Given the description of an element on the screen output the (x, y) to click on. 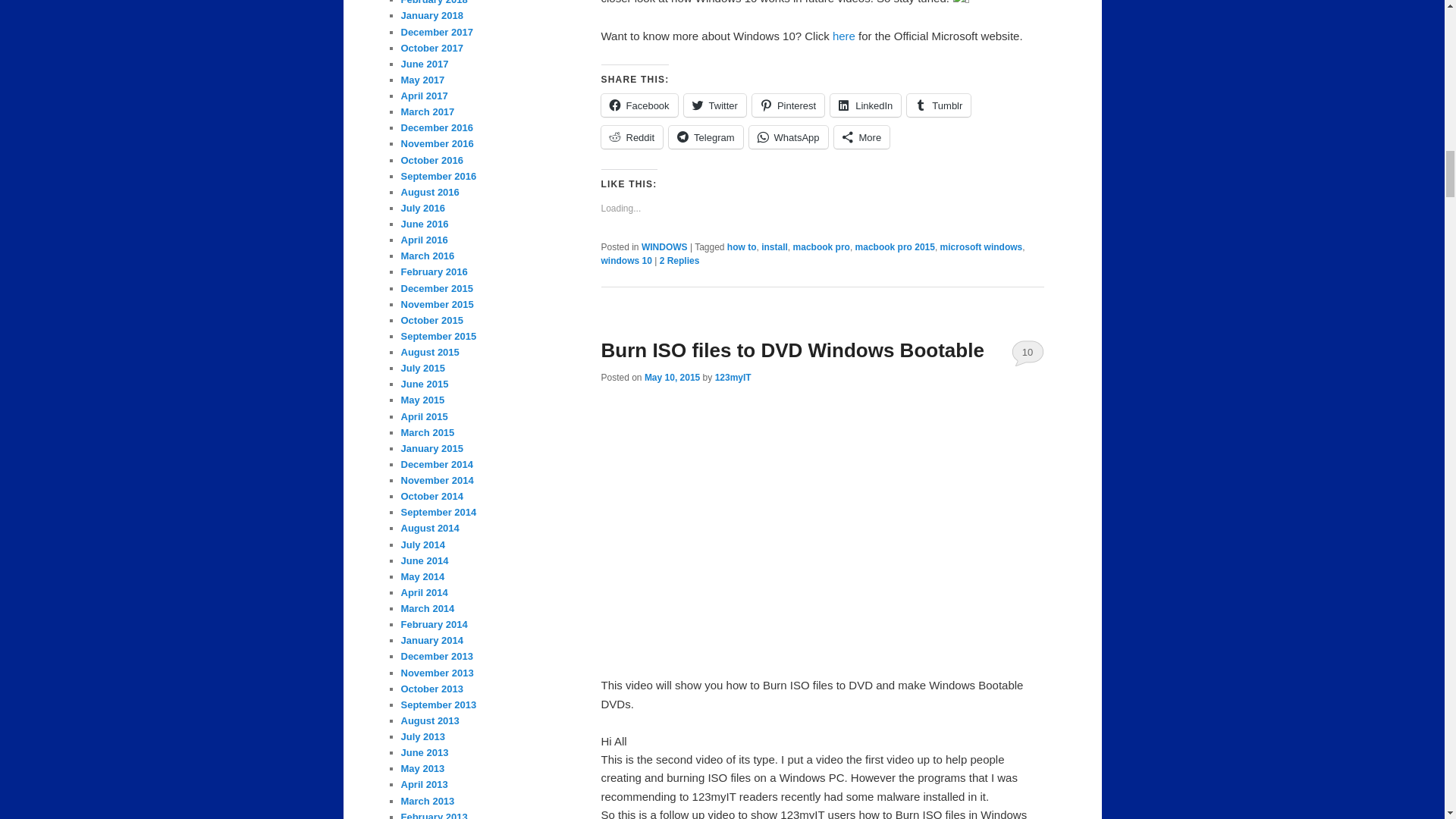
Click to share on Pinterest (788, 105)
Click to share on LinkedIn (865, 105)
Click to share on Twitter (714, 105)
Click to share on Reddit (630, 137)
Click to share on Facebook (638, 105)
Click to share on Tumblr (939, 105)
